Given the description of an element on the screen output the (x, y) to click on. 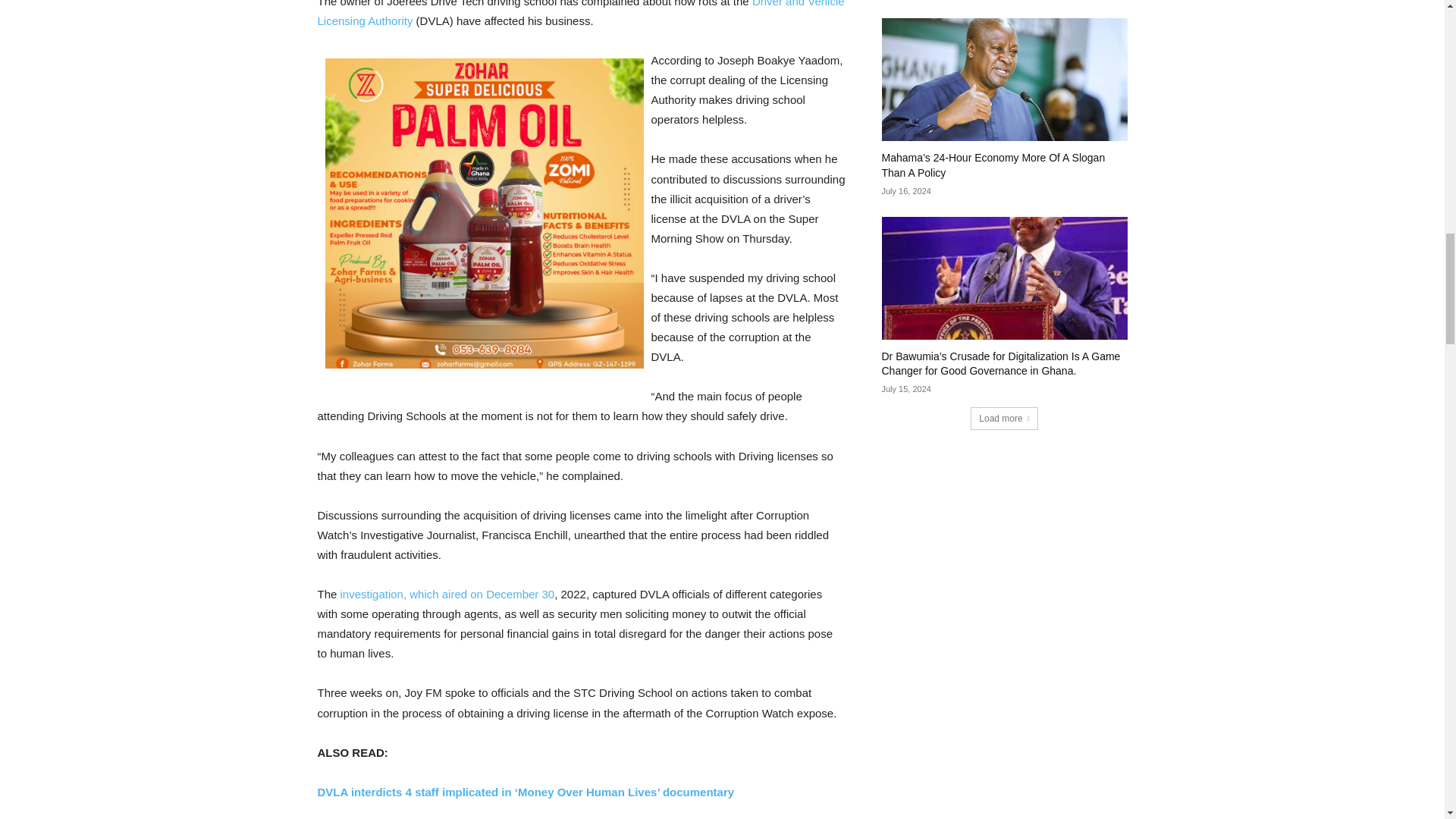
Driver and Vehicle Licensing Authority (580, 13)
